Given the description of an element on the screen output the (x, y) to click on. 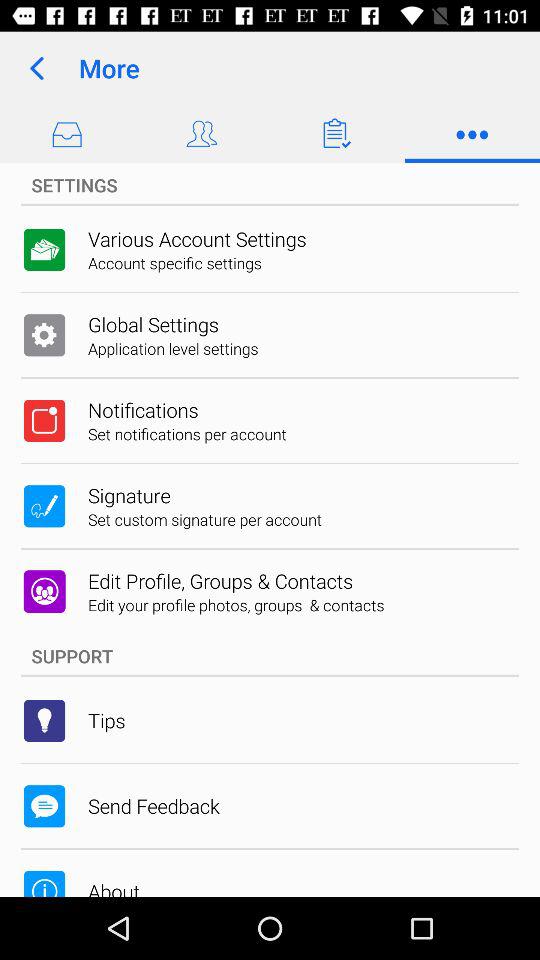
open the icon above notifications app (173, 348)
